Given the description of an element on the screen output the (x, y) to click on. 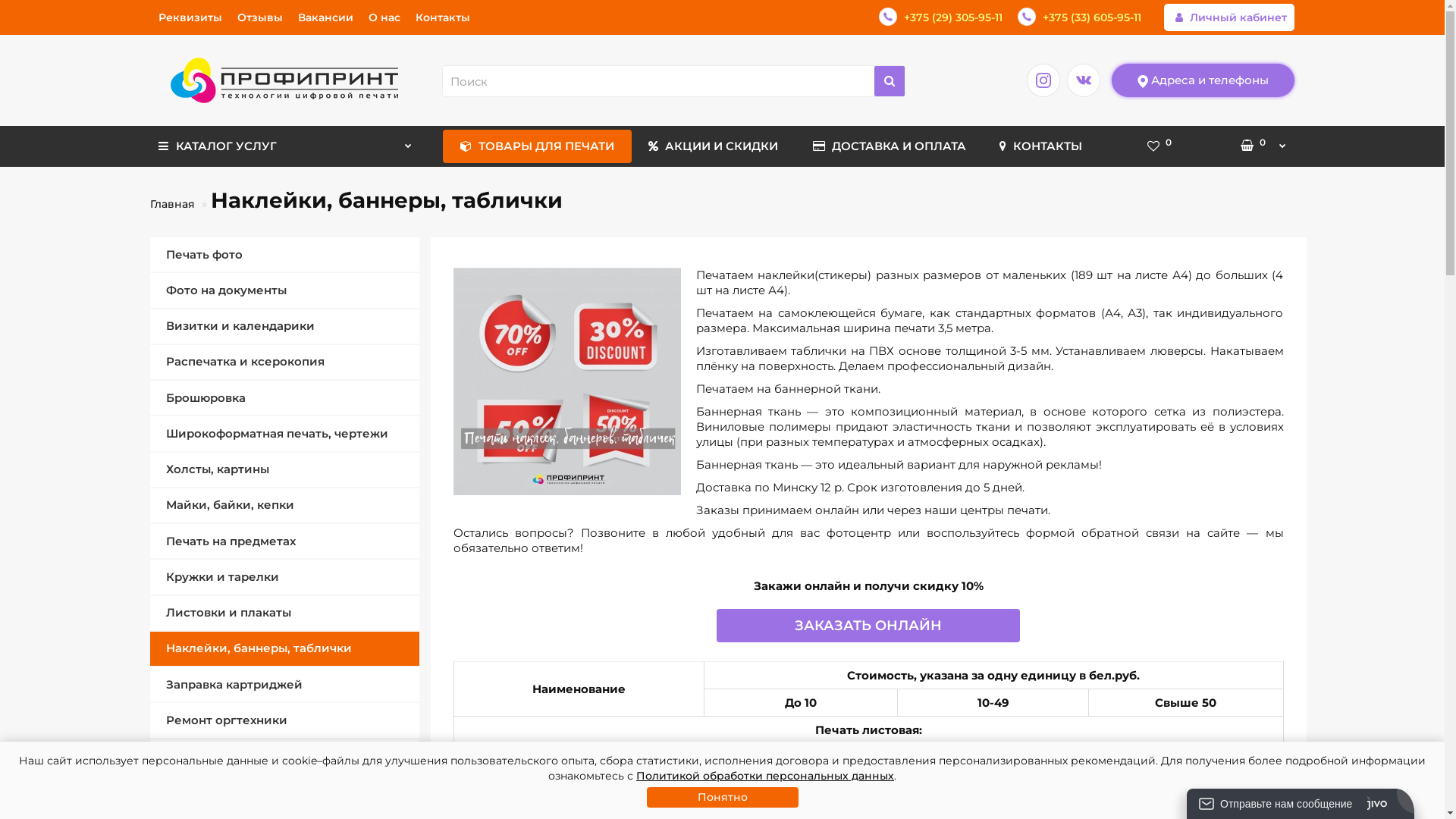
+375 (33) 605-95-11 Element type: text (1079, 17)
0 Element type: text (1159, 145)
0 Element type: text (1256, 146)
+375 (29) 305-95-11 Element type: text (939, 17)
0 Element type: text (1159, 146)
